Given the description of an element on the screen output the (x, y) to click on. 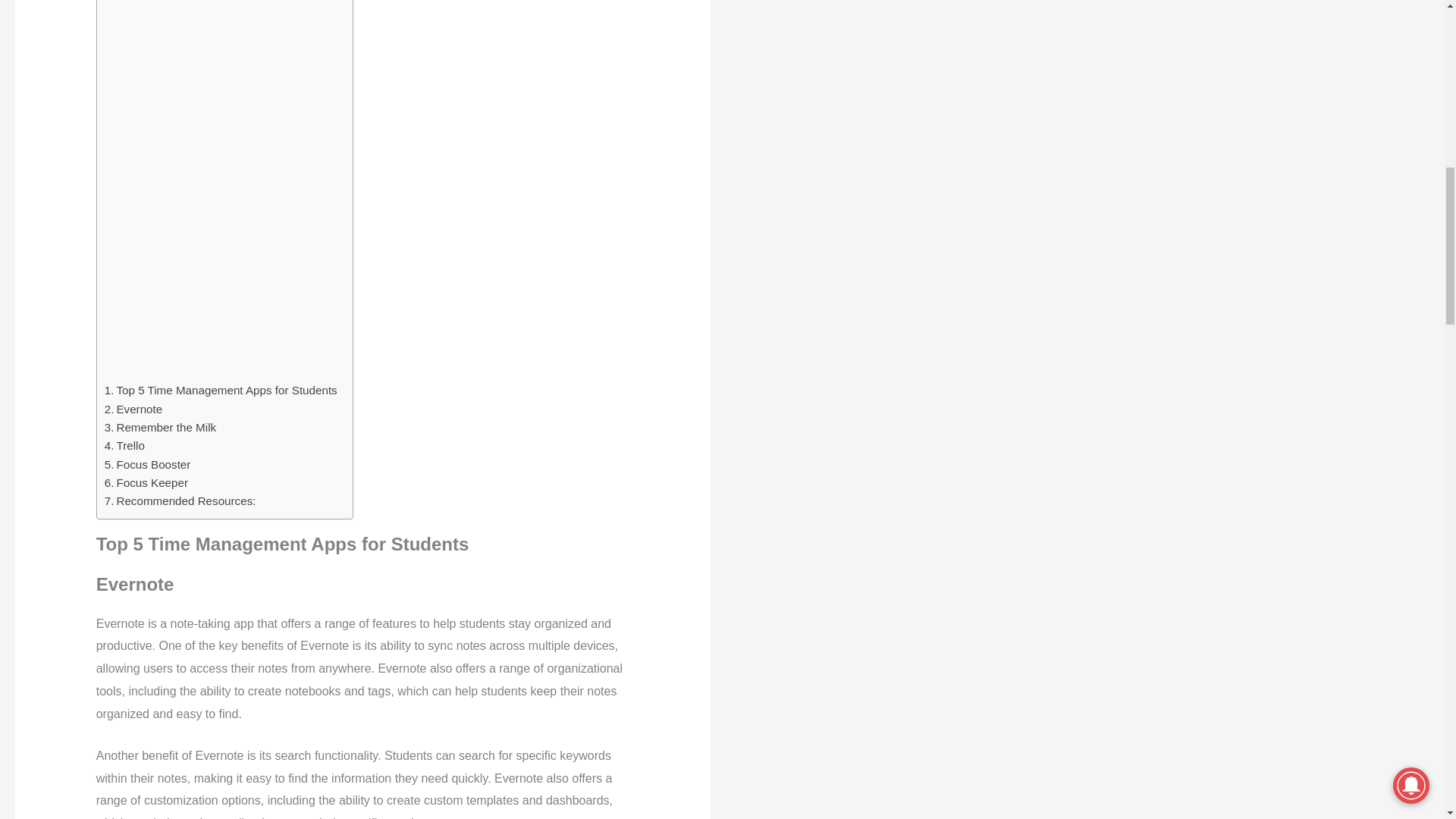
Trello (124, 445)
Recommended Resources: (180, 501)
Focus Keeper (145, 483)
Remember the Milk (159, 427)
Focus Booster (147, 464)
Top 5 Time Management Apps for Students (220, 390)
Evernote (133, 409)
